Given the description of an element on the screen output the (x, y) to click on. 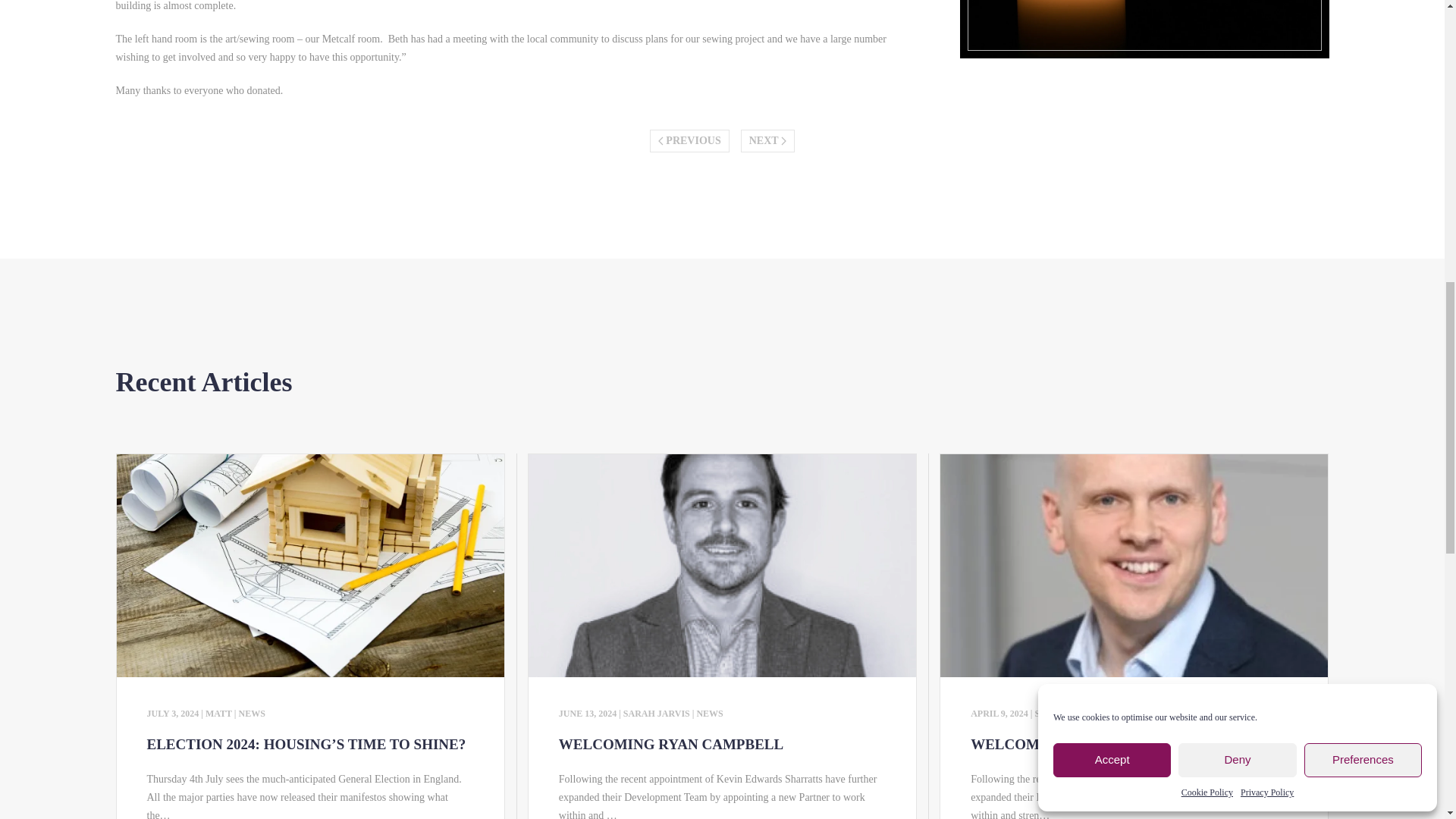
PREVIOUS (689, 140)
NEXT (767, 140)
